Given the description of an element on the screen output the (x, y) to click on. 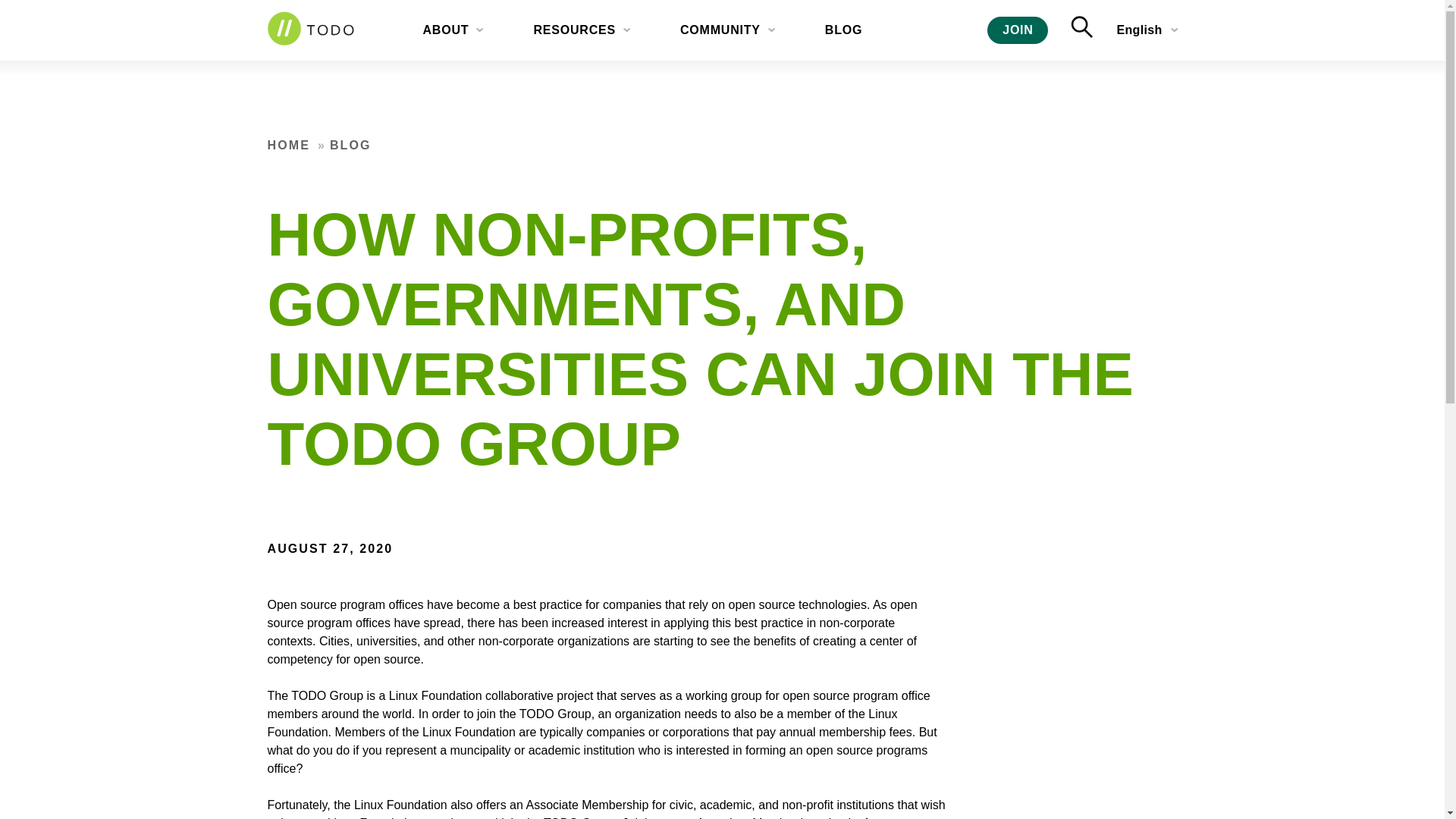
HOME (287, 144)
BLOG (350, 144)
ABOUT (455, 29)
JOIN (1017, 30)
Skip to content (16, 10)
RESOURCES (583, 29)
COMMUNITY (728, 29)
